Given the description of an element on the screen output the (x, y) to click on. 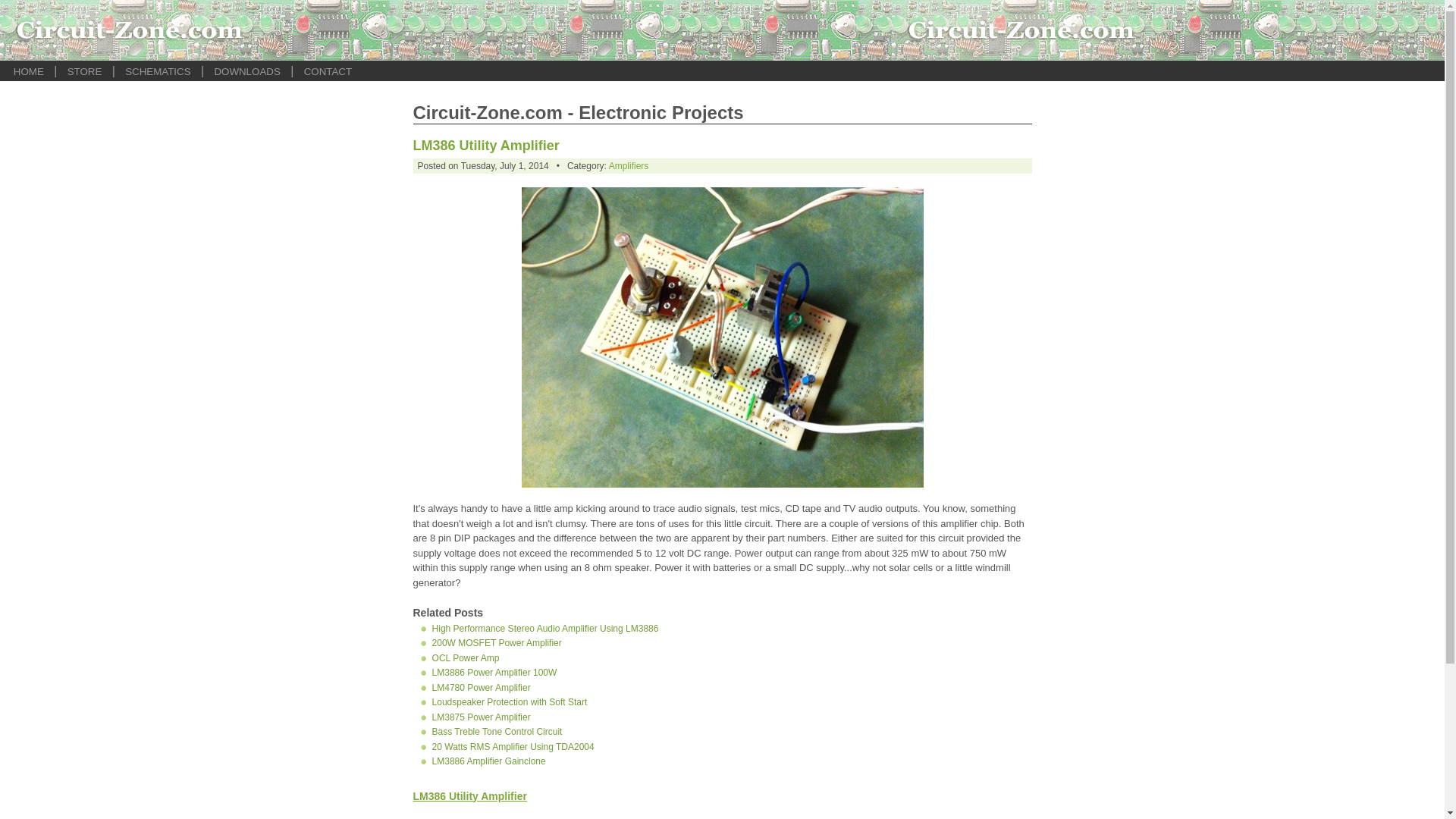
LM386 Utility Amplifier (468, 796)
LM386 Utility Amplifier (468, 796)
Amplifiers (628, 165)
LM386 Utility Amplifier (485, 145)
20 Watts RMS Amplifier Using TDA2004 (513, 747)
SCHEMATICS (157, 70)
LM3886 Power Amplifier 100W (494, 672)
Amplifiers (628, 165)
LM386 Utility Amplifier (722, 482)
LM386 Utility Amplifier (485, 145)
LM3886 Amplifier Gainclone (489, 760)
LM3875 Power Amplifier (481, 716)
200W MOSFET Power Amplifier (497, 643)
STORE (83, 70)
LM4780 Power Amplifier (481, 687)
